Given the description of an element on the screen output the (x, y) to click on. 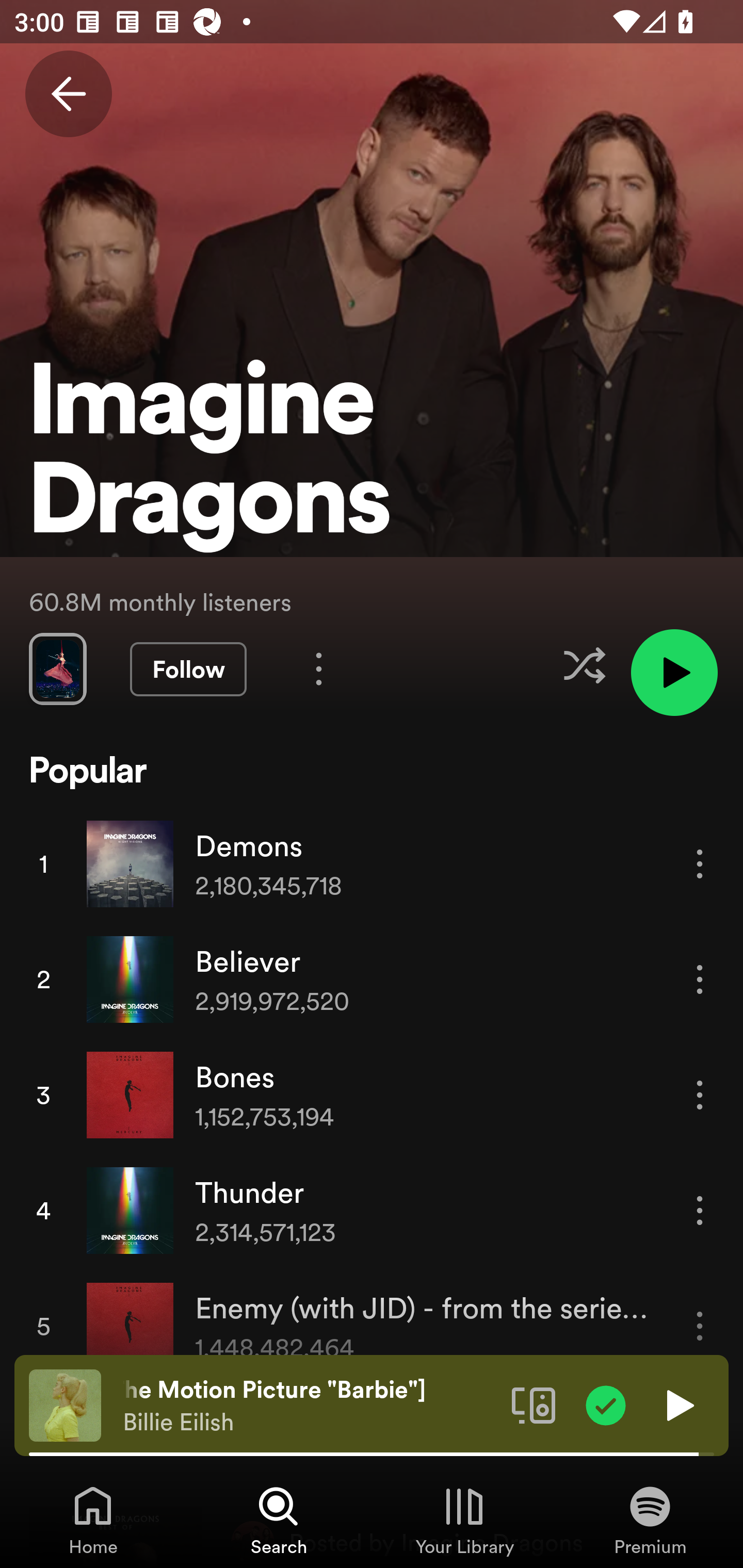
Back (68, 93)
Enable shuffle for this artist (583, 665)
Swipe through previews of tracks from this artist. (57, 668)
More options for artist Imagine Dragons (318, 668)
Play artist (674, 672)
Follow (188, 669)
More options for song Demons (699, 863)
More options for song Believer (699, 979)
3 Bones 1,152,753,194 More options for song Bones (371, 1095)
More options for song Bones (699, 1095)
More options for song Thunder (699, 1210)
The cover art of the currently playing track (64, 1404)
Connect to a device. Opens the devices menu (533, 1404)
